Given the description of an element on the screen output the (x, y) to click on. 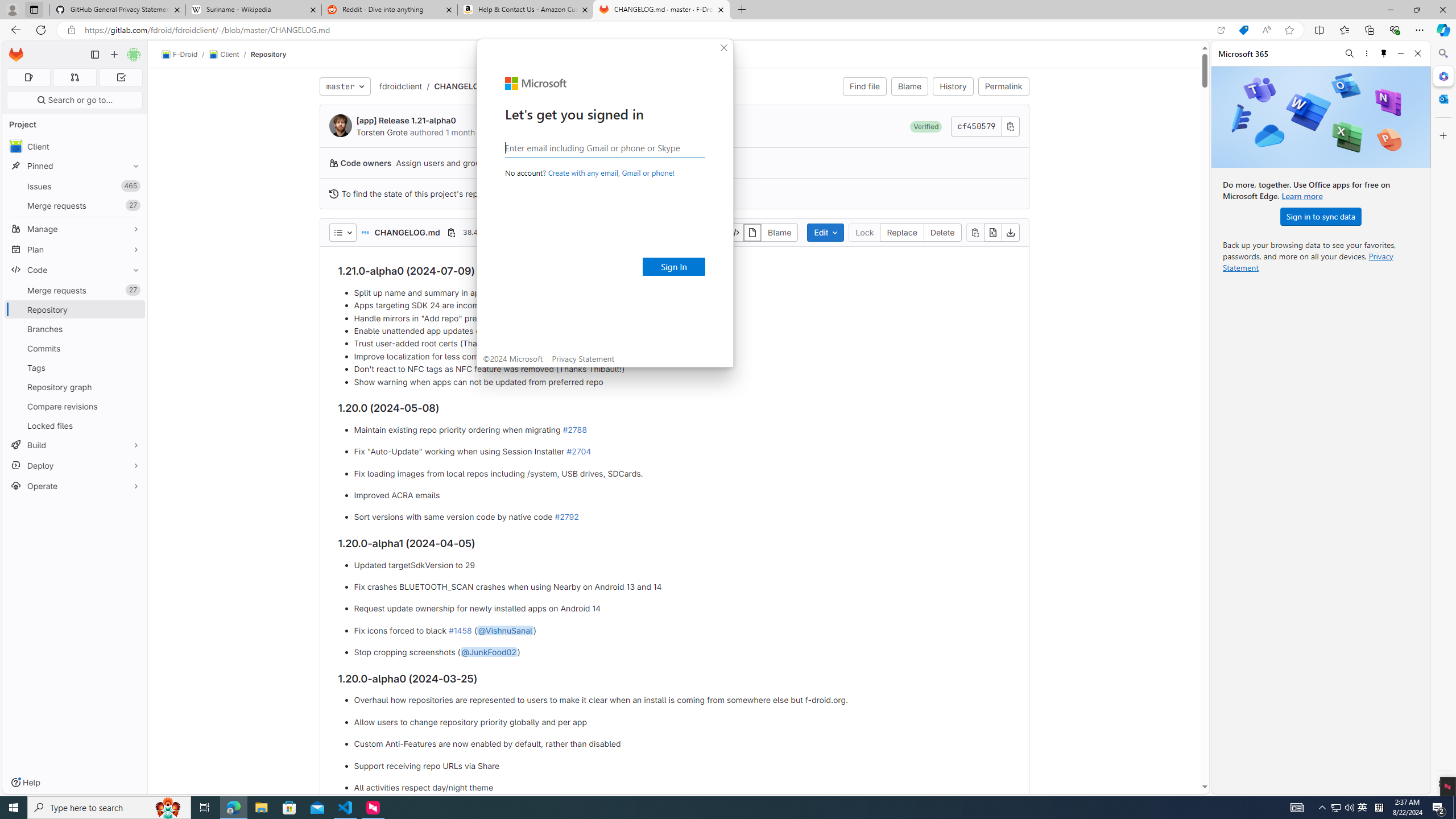
Assigned issues 0 (28, 76)
Torsten Grote (381, 131)
Verified (926, 126)
Shopping in Microsoft Edge (1243, 29)
Pin Repository (132, 309)
Microsoft Store (289, 807)
Copy commit SHA (1010, 126)
Delete (942, 232)
Torsten Grote's avatar (340, 125)
Client (74, 145)
Learn more about Microsoft Office. (1302, 195)
Pin Locked files (132, 425)
GitHub General Privacy Statement - GitHub Docs (117, 9)
